Given the description of an element on the screen output the (x, y) to click on. 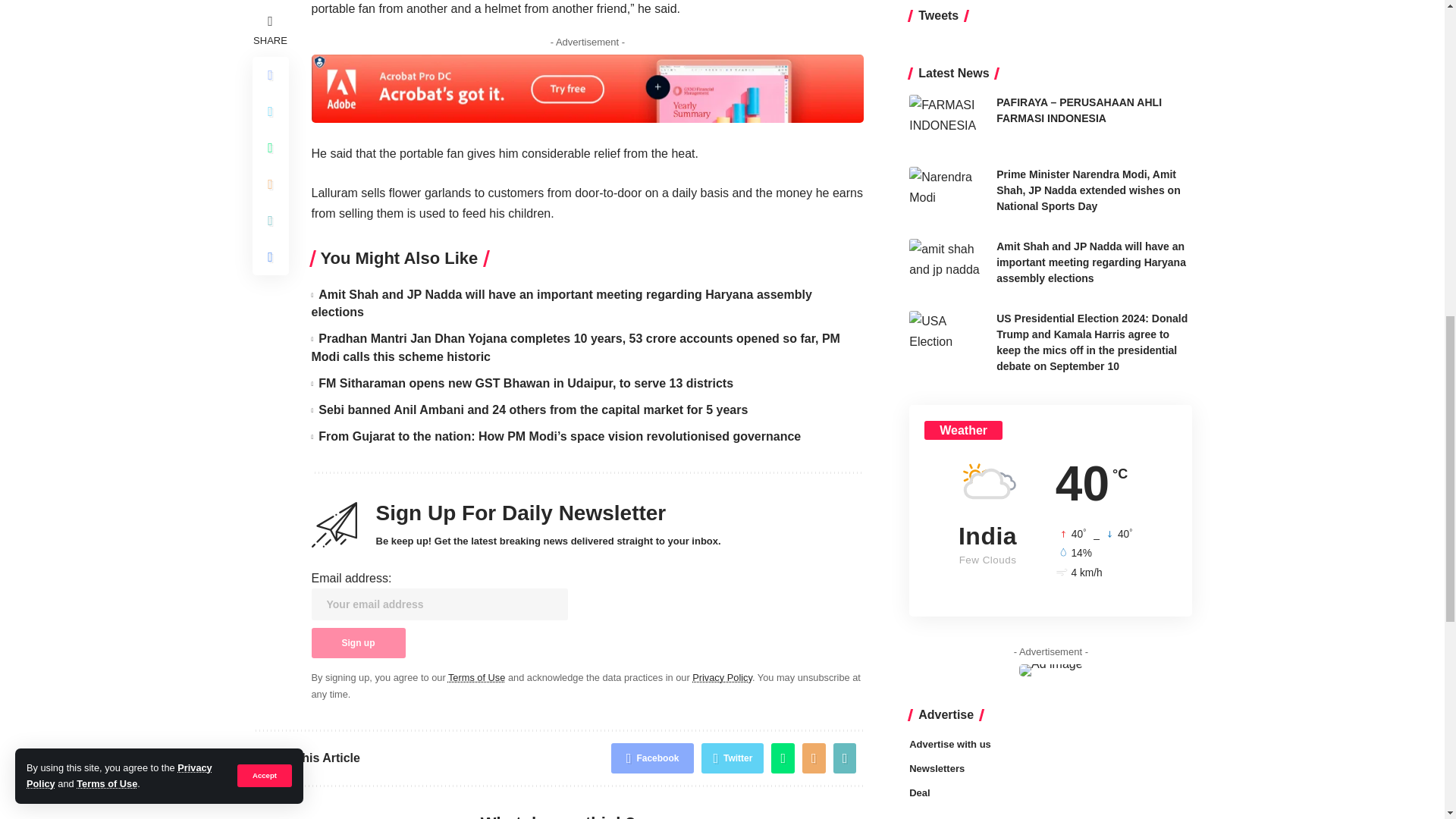
Sign up (357, 643)
